Given the description of an element on the screen output the (x, y) to click on. 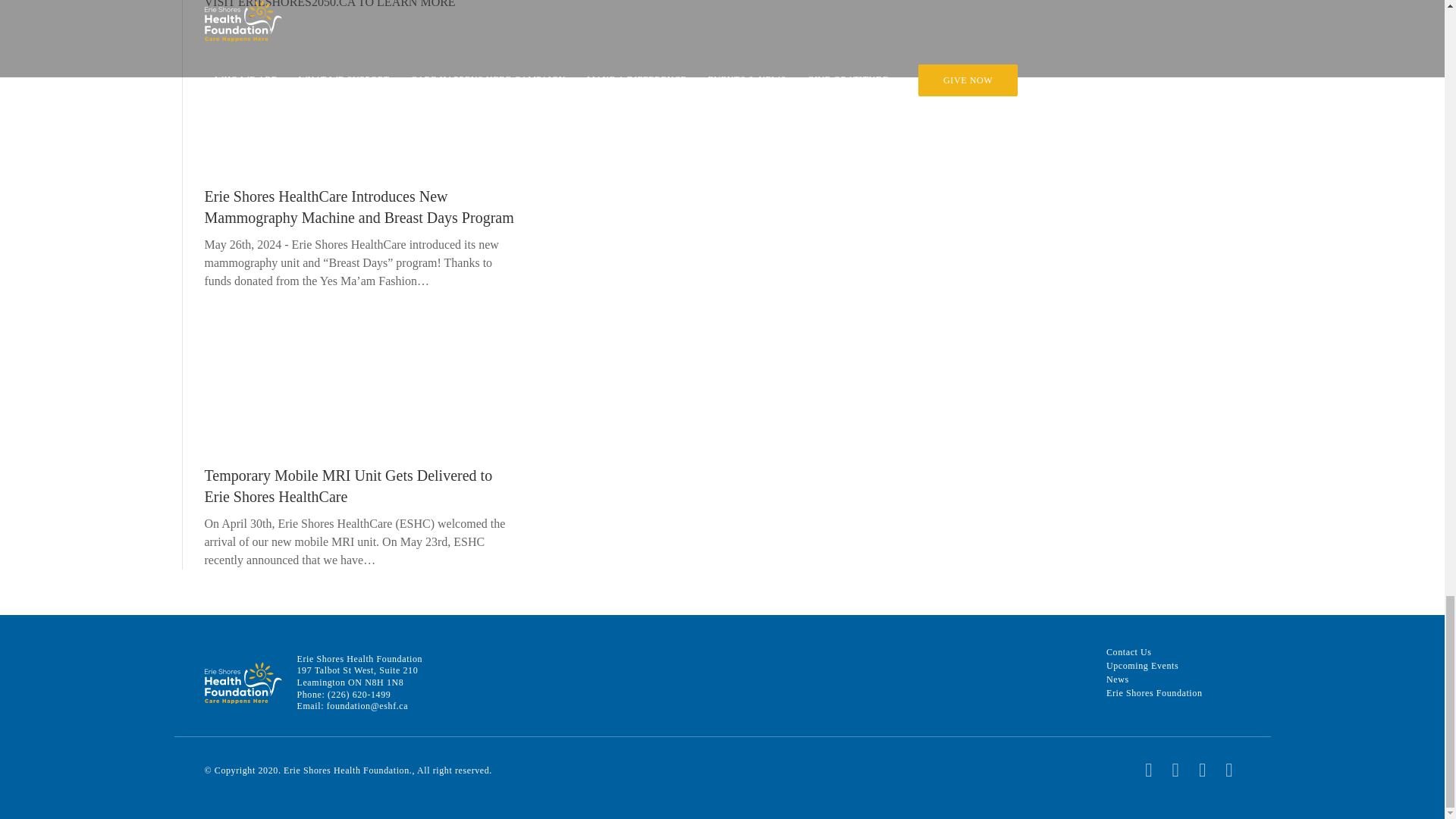
News (1154, 679)
Upcoming Events (1154, 665)
Erie Shores Foundation (1154, 693)
Contact Us (1154, 652)
